Given the description of an element on the screen output the (x, y) to click on. 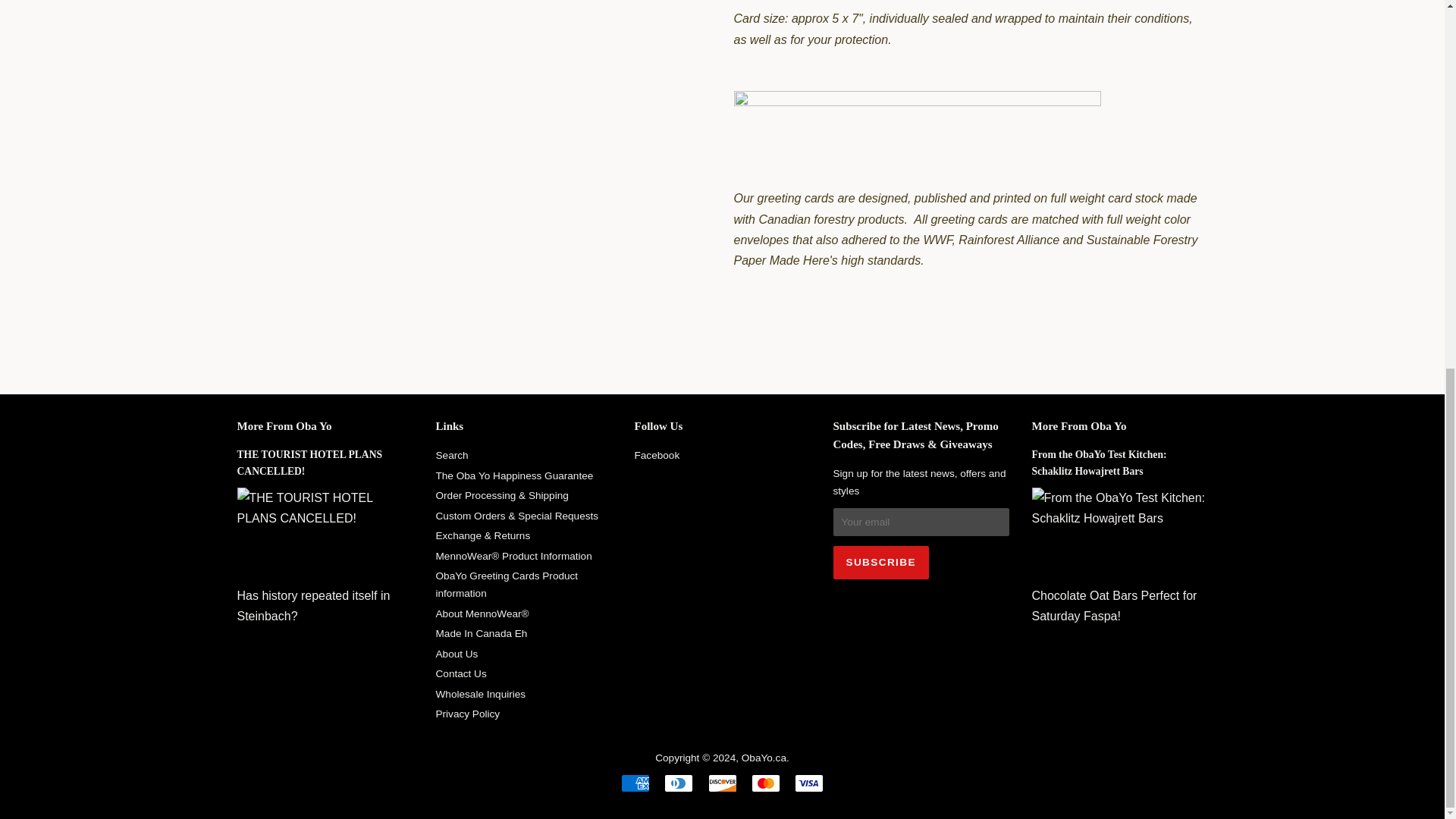
ObaYo.ca on Facebook (656, 455)
Diners Club (678, 782)
American Express (635, 782)
Visa (809, 782)
Subscribe (880, 562)
Mastercard (765, 782)
Discover (721, 782)
